Given the description of an element on the screen output the (x, y) to click on. 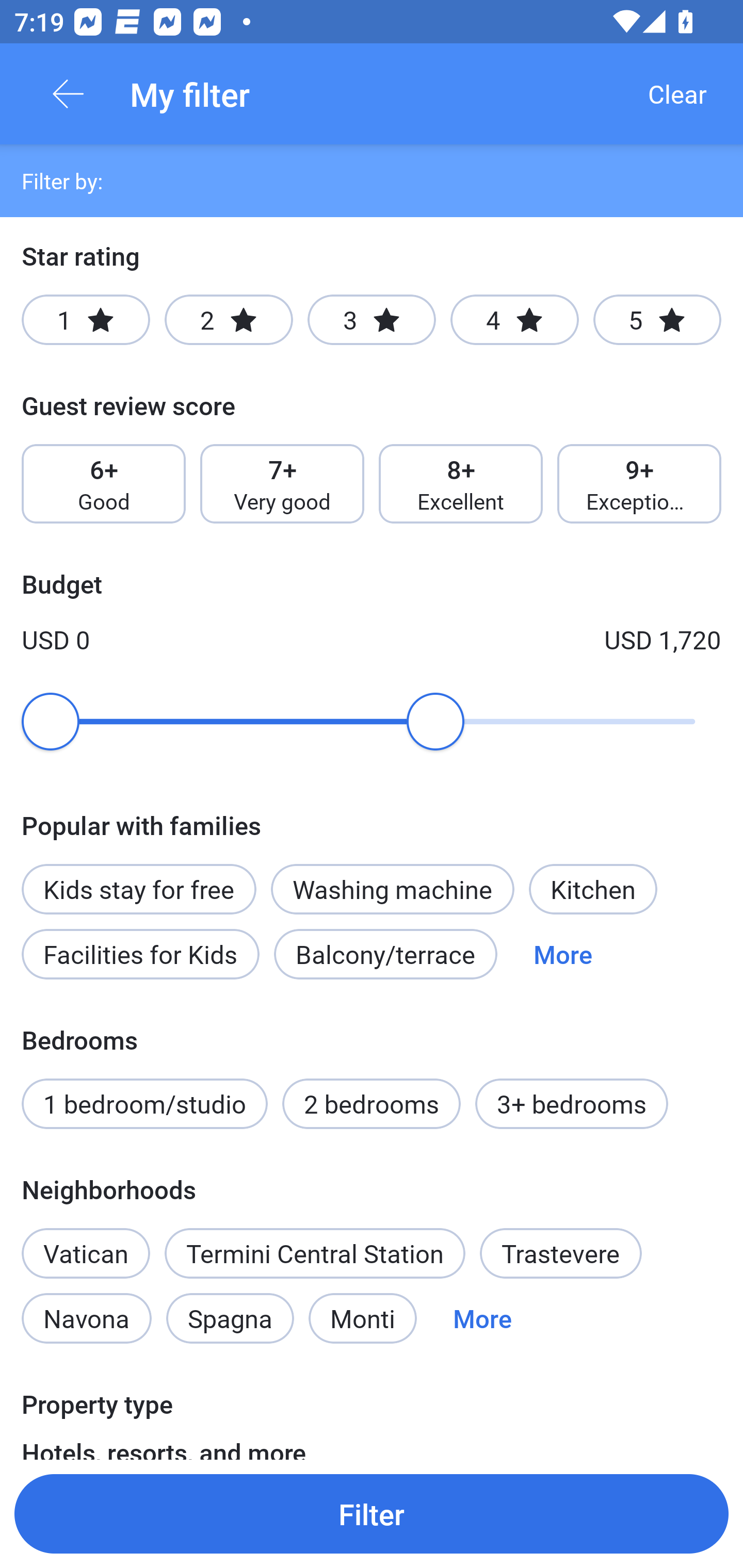
Clear (676, 93)
1 (85, 319)
2 (228, 319)
3 (371, 319)
4 (514, 319)
5 (657, 319)
6+ Good (103, 483)
7+ Very good (281, 483)
8+ Excellent (460, 483)
9+ Exceptional (639, 483)
Kids stay for free (138, 878)
Washing machine (392, 888)
Kitchen (593, 888)
Facilities for Kids (140, 954)
Balcony/terrace (385, 954)
More (562, 954)
1 bedroom/studio (144, 1103)
2 bedrooms (371, 1103)
3+ bedrooms (571, 1103)
Vatican (85, 1242)
Termini Central Station (314, 1253)
Trastevere (560, 1253)
Navona (86, 1317)
Spagna (230, 1317)
Monti (362, 1317)
More (482, 1317)
Filter (371, 1513)
